Given the description of an element on the screen output the (x, y) to click on. 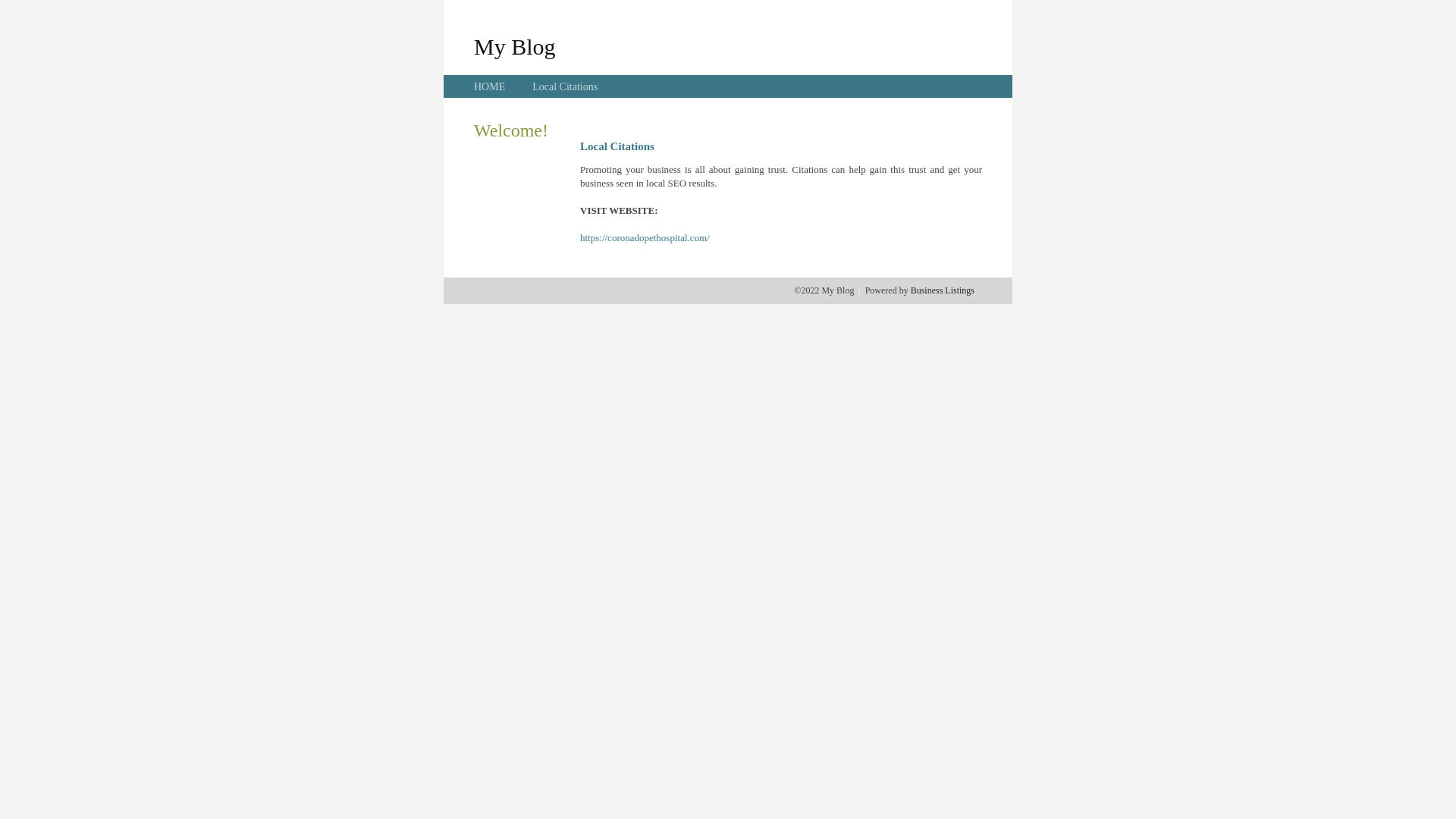
My Blog Element type: text (514, 46)
https://coronadopethospital.com/ Element type: text (644, 237)
HOME Element type: text (489, 86)
Local Citations Element type: text (564, 86)
Business Listings Element type: text (942, 290)
